Given the description of an element on the screen output the (x, y) to click on. 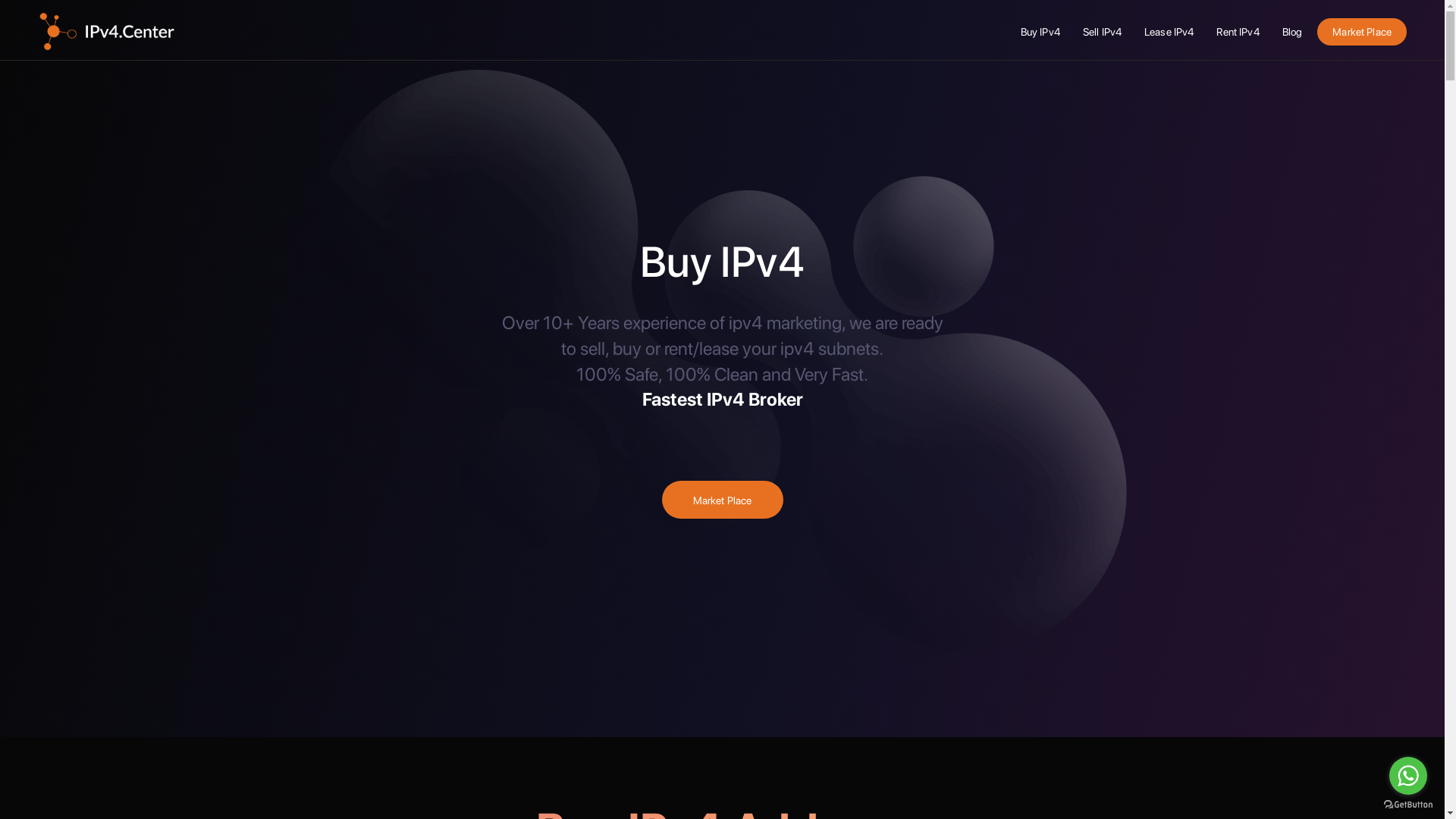
Market Place Element type: text (1361, 31)
Buy IPv4 Element type: text (1040, 31)
Lease IPv4 Element type: text (1168, 31)
Blog Element type: text (1292, 31)
Market Place Element type: text (722, 499)
Sell IPv4 Element type: text (1102, 31)
Rent IPv4 Element type: text (1237, 31)
